Given the description of an element on the screen output the (x, y) to click on. 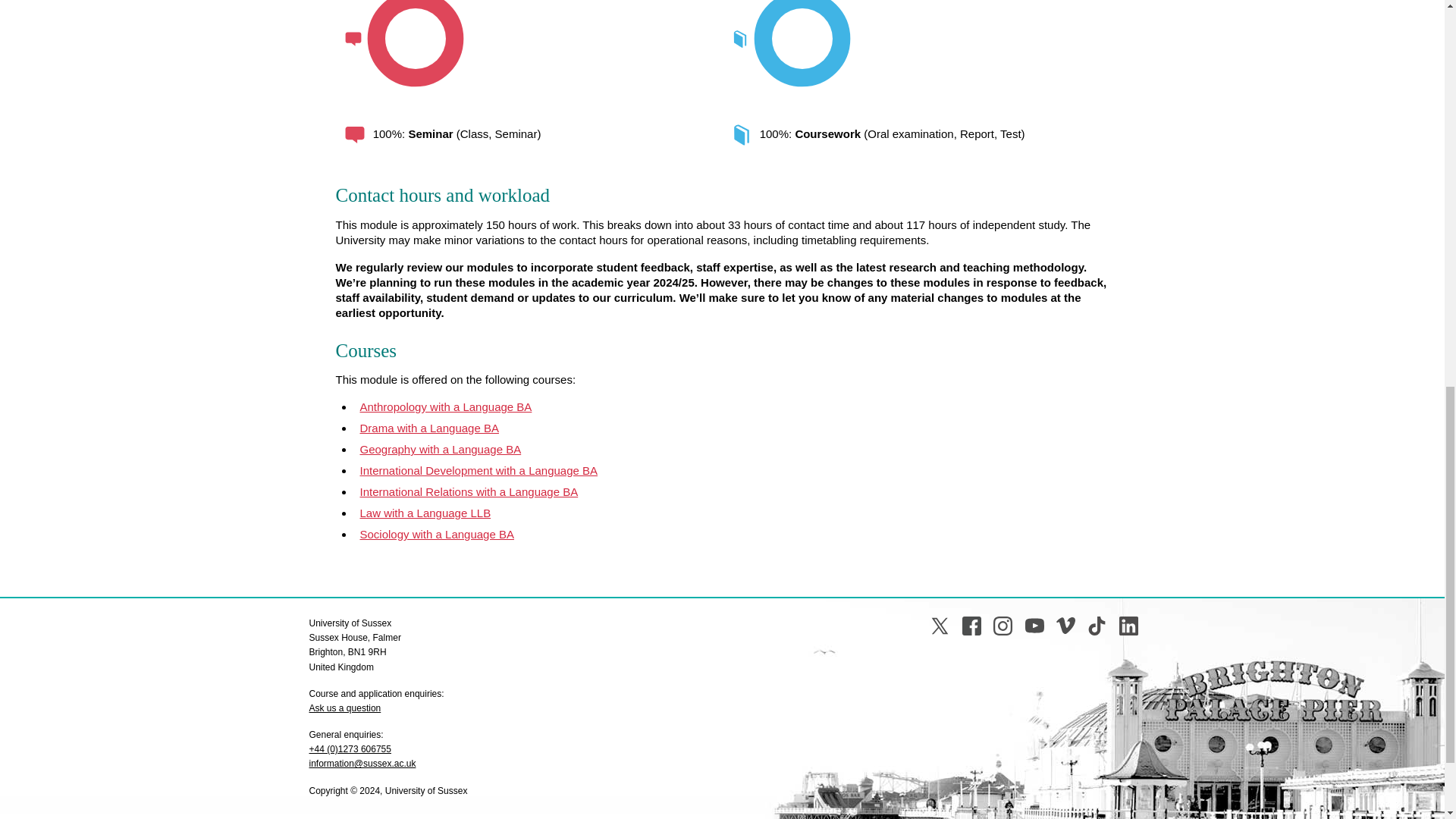
Linkedin (1128, 625)
Facebook (971, 625)
Instagram (1001, 625)
Tiktok (1096, 625)
Vimeo (1066, 625)
YouTube (1034, 625)
Twitter (939, 625)
